Given the description of an element on the screen output the (x, y) to click on. 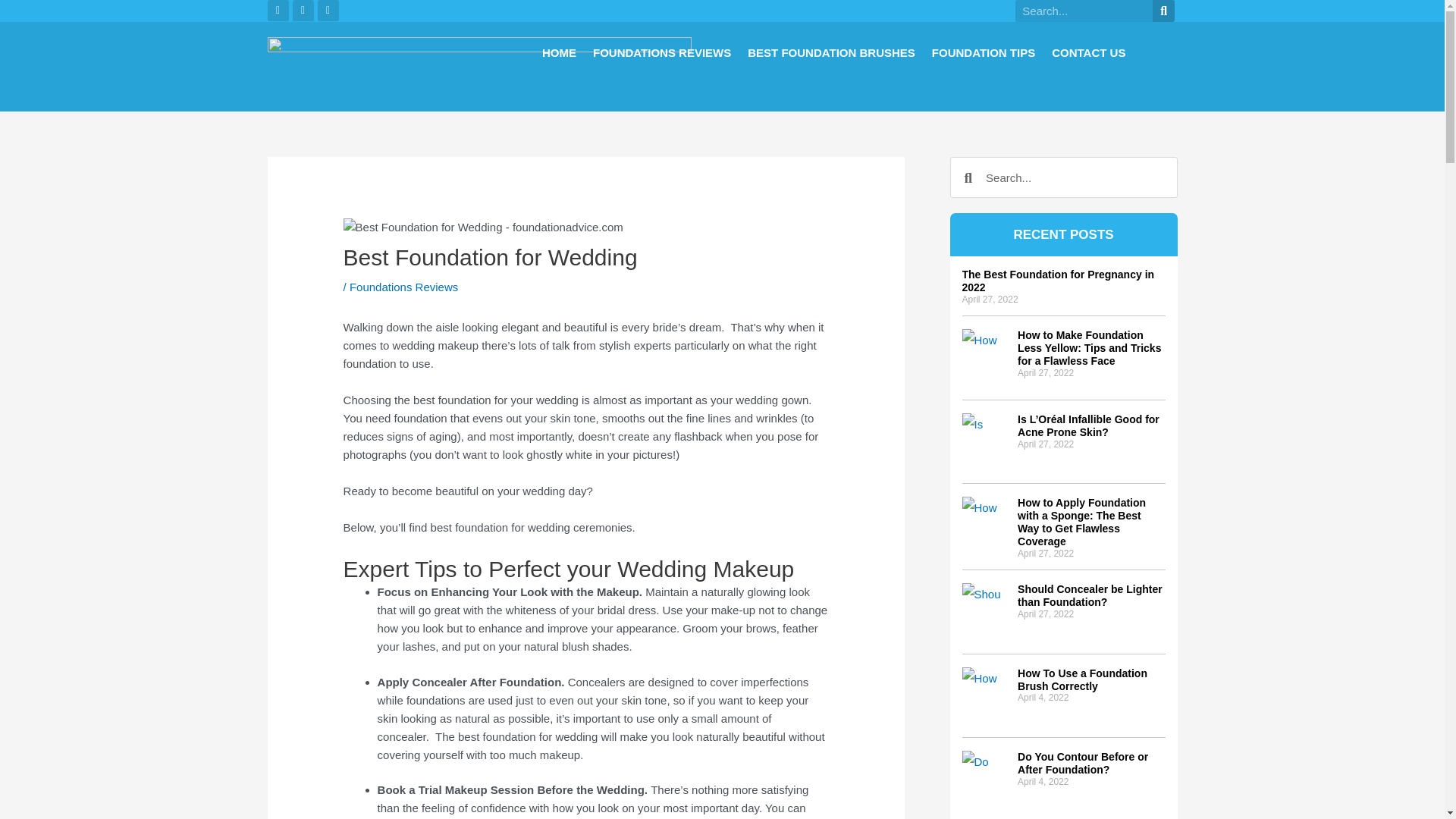
Facebook (277, 10)
FOUNDATIONS REVIEWS (661, 52)
FOUNDATION TIPS (983, 52)
Twitter (303, 10)
Search (1163, 11)
Instagram (327, 10)
CONTACT US (1088, 52)
BEST FOUNDATION BRUSHES (831, 52)
HOME (558, 52)
Foundations Reviews (403, 286)
